Given the description of an element on the screen output the (x, y) to click on. 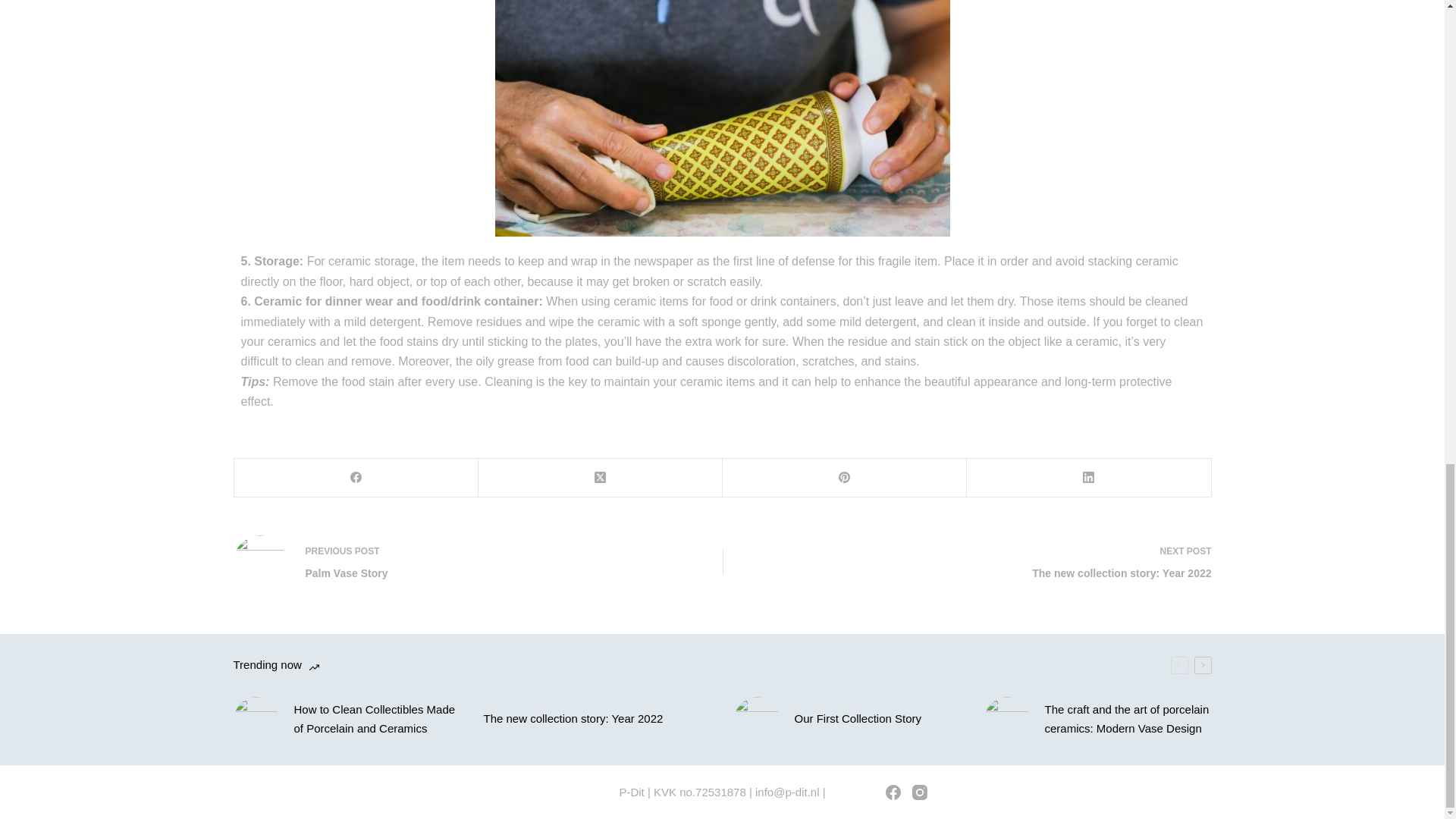
The new collection story: Year 2022 (573, 719)
Our First Collection Story (457, 561)
How to Clean Collectibles Made of Porcelain and Ceramics (857, 719)
